Given the description of an element on the screen output the (x, y) to click on. 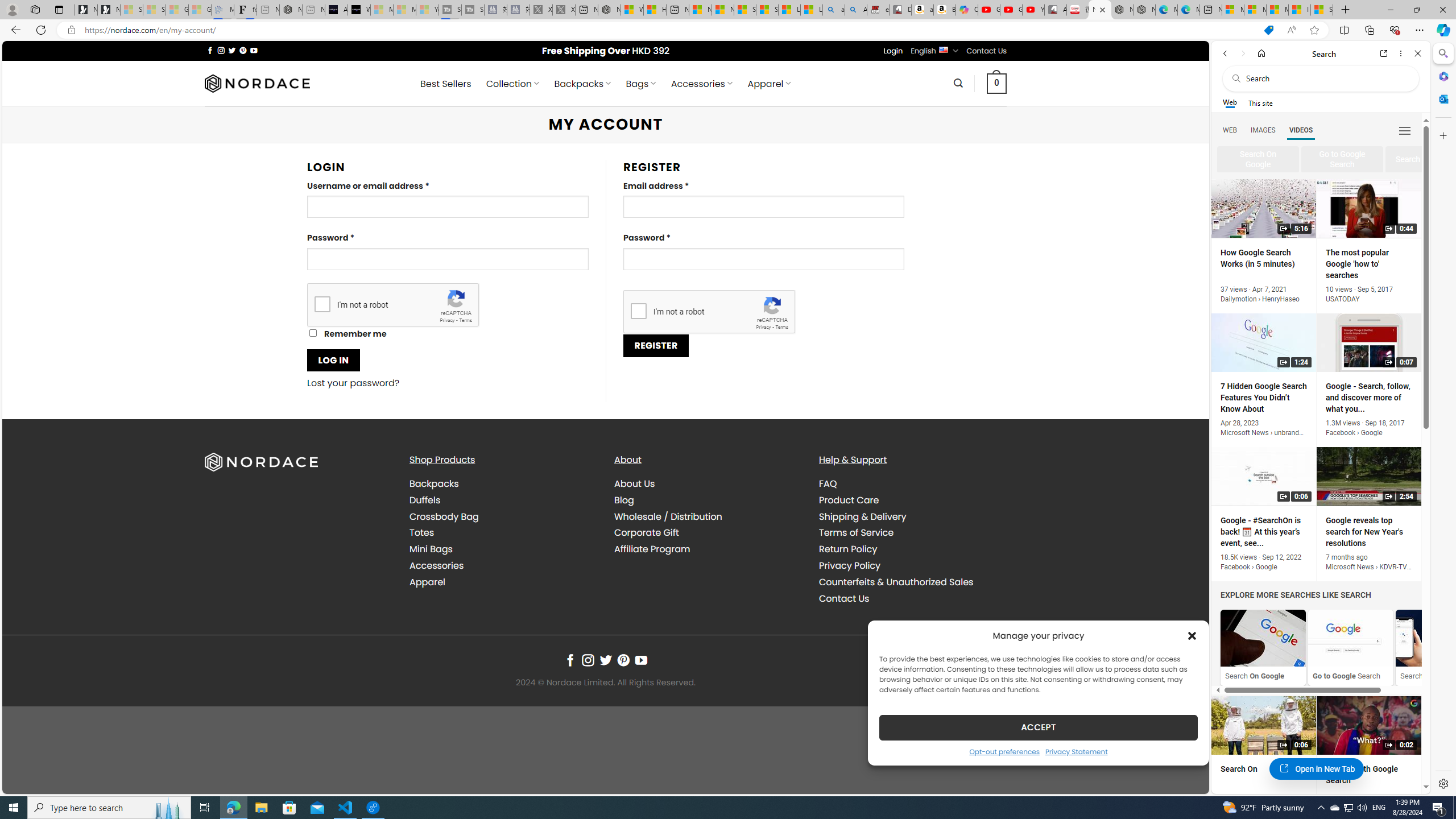
AI Voice Changer for PC and Mac - Voice.ai (336, 9)
Apparel (427, 581)
Privacy Policy (849, 565)
Apparel (502, 581)
ACCEPT (1038, 727)
Microsoft Start - Sleeping (404, 9)
Duffels (502, 499)
I Gained 20 Pounds of Muscle in 30 Days! | Watch (1300, 9)
Crossbody Bag (502, 516)
Search On Google (1263, 637)
Opt-out preferences (1004, 750)
